Given the description of an element on the screen output the (x, y) to click on. 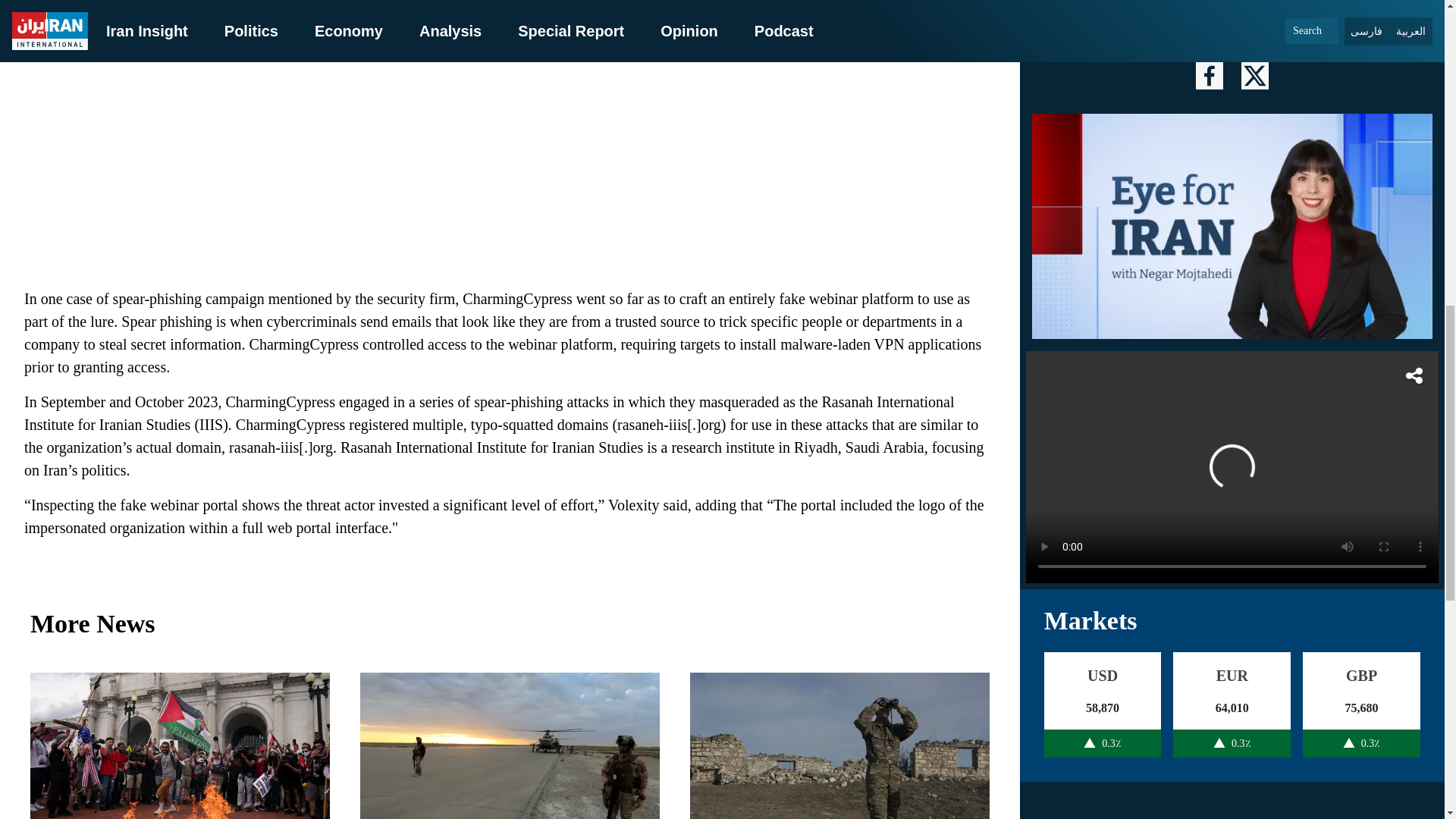
Twitter (509, 143)
More News (510, 624)
